Given the description of an element on the screen output the (x, y) to click on. 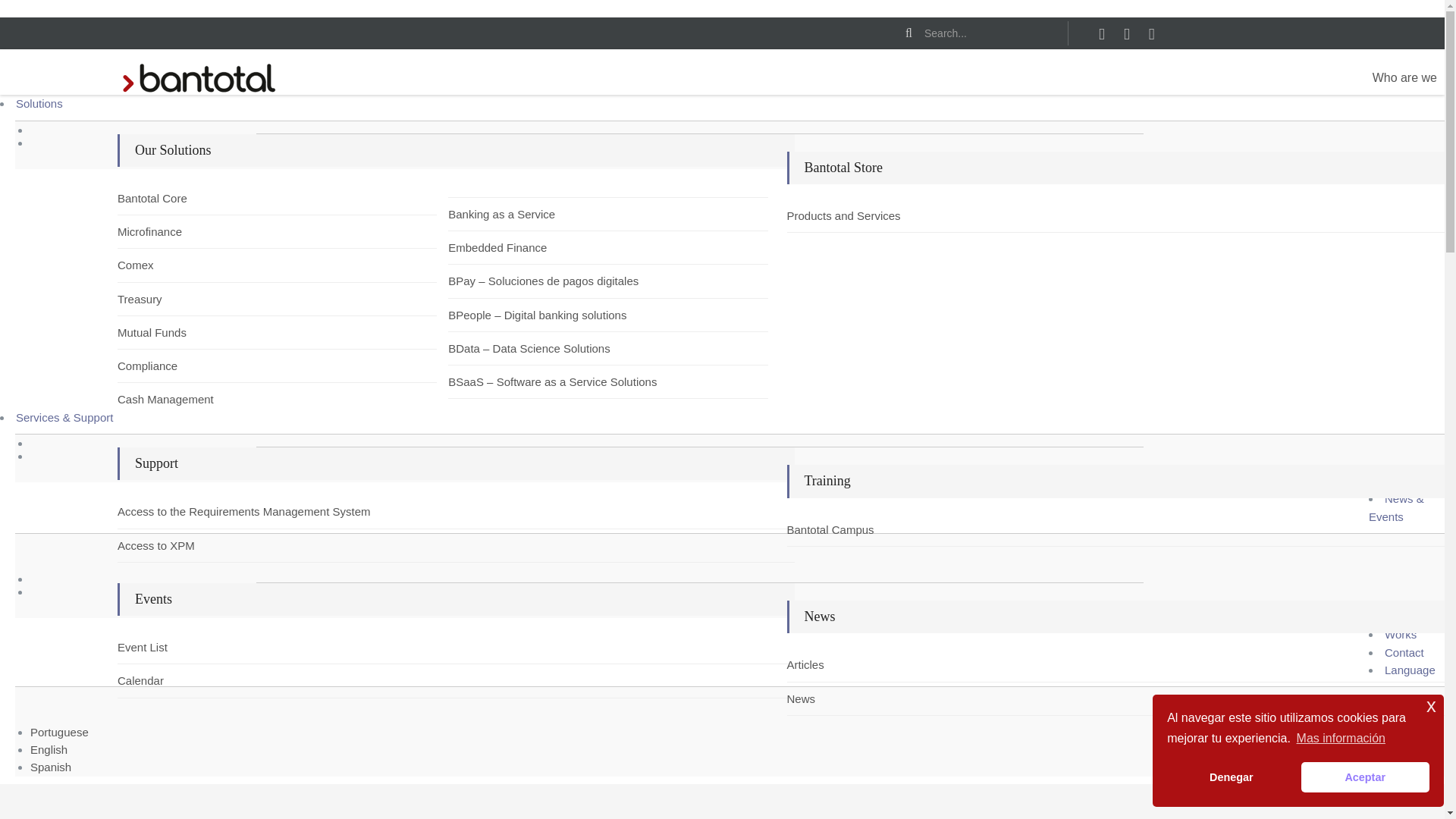
Banking as a Service (493, 213)
Embedded Finance (493, 247)
Comex (162, 264)
Compliance (162, 365)
Event List (162, 647)
Products and Services (832, 215)
Microfinance (162, 231)
Solutions (39, 103)
Contact (1403, 652)
Bantotal Campus (832, 529)
Cash Management (162, 398)
Works (1400, 634)
Calendar (162, 680)
Treasury (162, 298)
Who are we (1405, 78)
